Given the description of an element on the screen output the (x, y) to click on. 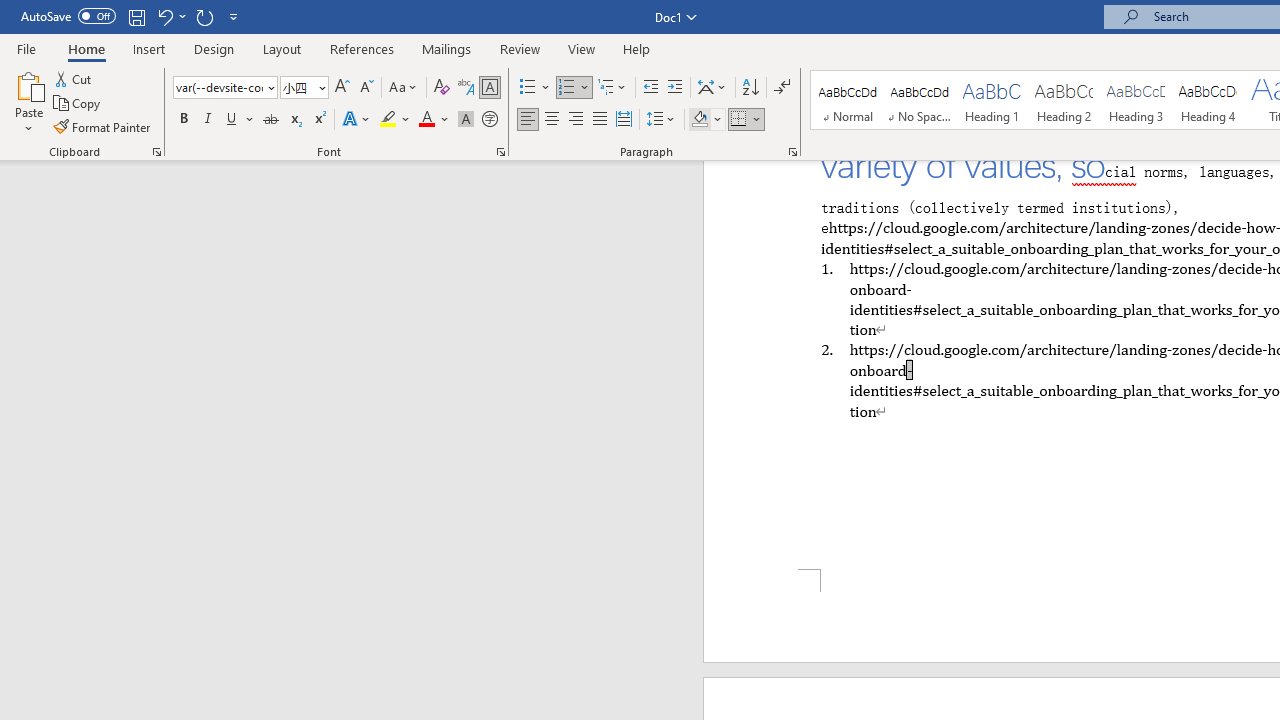
Font Color Automatic (426, 119)
Bold (183, 119)
Copy (78, 103)
Heading 3 (1135, 100)
Decrease Indent (650, 87)
Phonetic Guide... (465, 87)
Grow Font (342, 87)
Multilevel List (613, 87)
Open (320, 87)
Heading 2 (1063, 100)
